Given the description of an element on the screen output the (x, y) to click on. 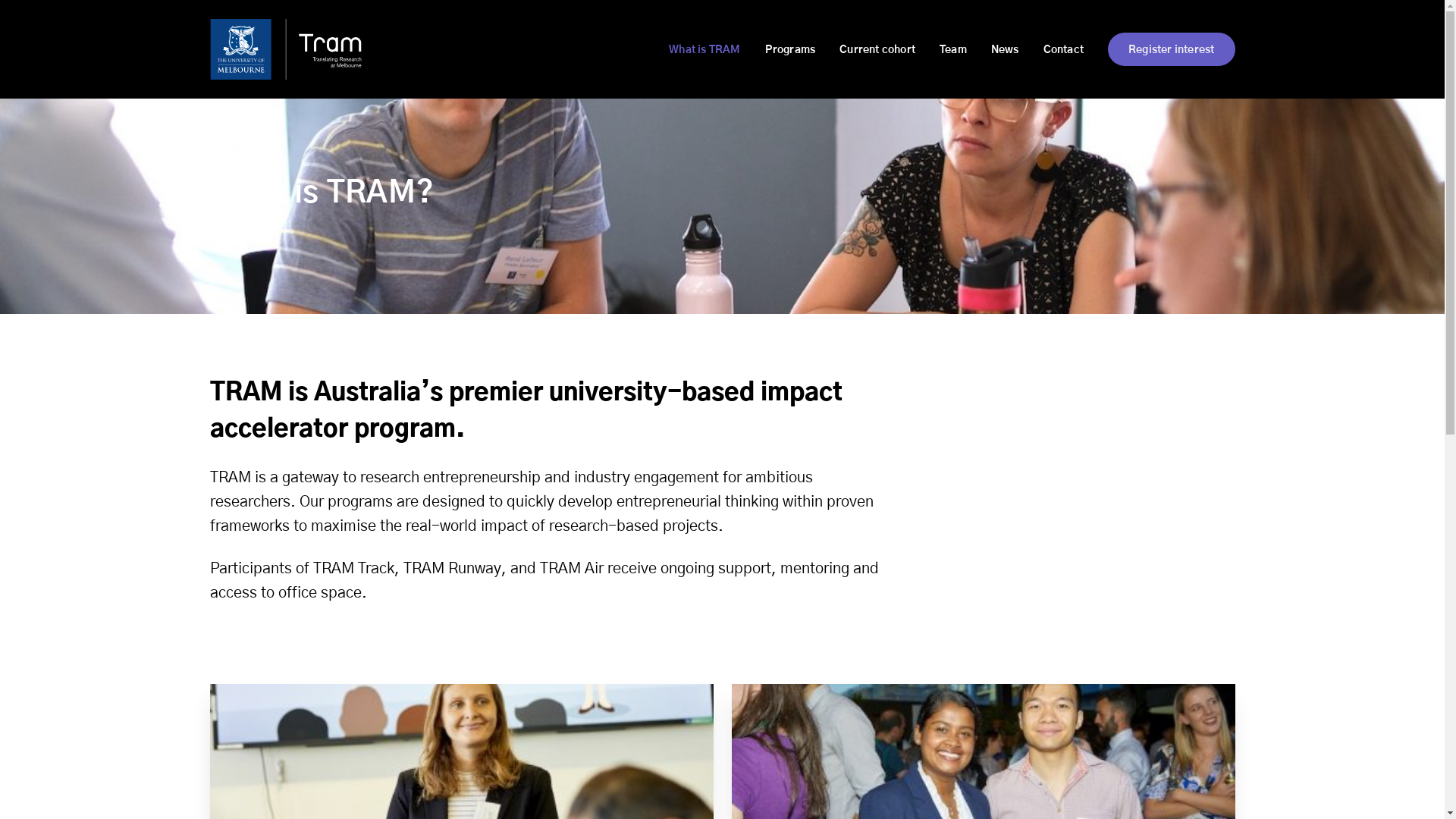
What is TRAM Element type: text (692, 49)
TRAM Element type: text (284, 48)
News Element type: text (992, 49)
Programs Element type: text (777, 49)
Current cohort Element type: text (865, 49)
Register interest Element type: text (1170, 48)
Team Element type: text (940, 49)
Contact Element type: text (1051, 49)
